Given the description of an element on the screen output the (x, y) to click on. 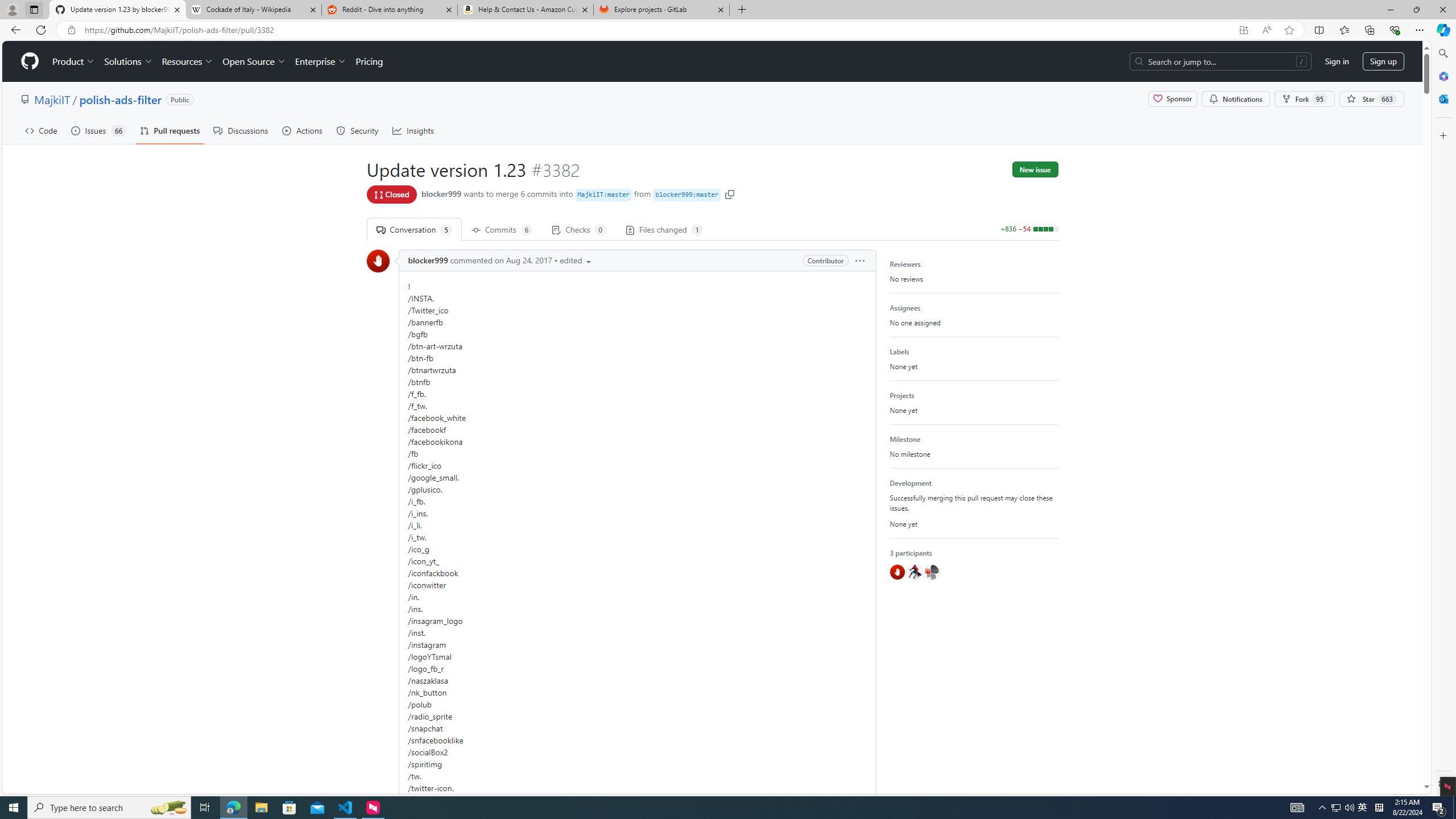
MajkiIT : master (602, 195)
Solutions (128, 60)
Insights (413, 130)
@hawkeye116477 (914, 572)
Cockade of Italy - Wikipedia (253, 9)
Solutions (128, 60)
Pricing (368, 60)
Pricing (368, 60)
